Given the description of an element on the screen output the (x, y) to click on. 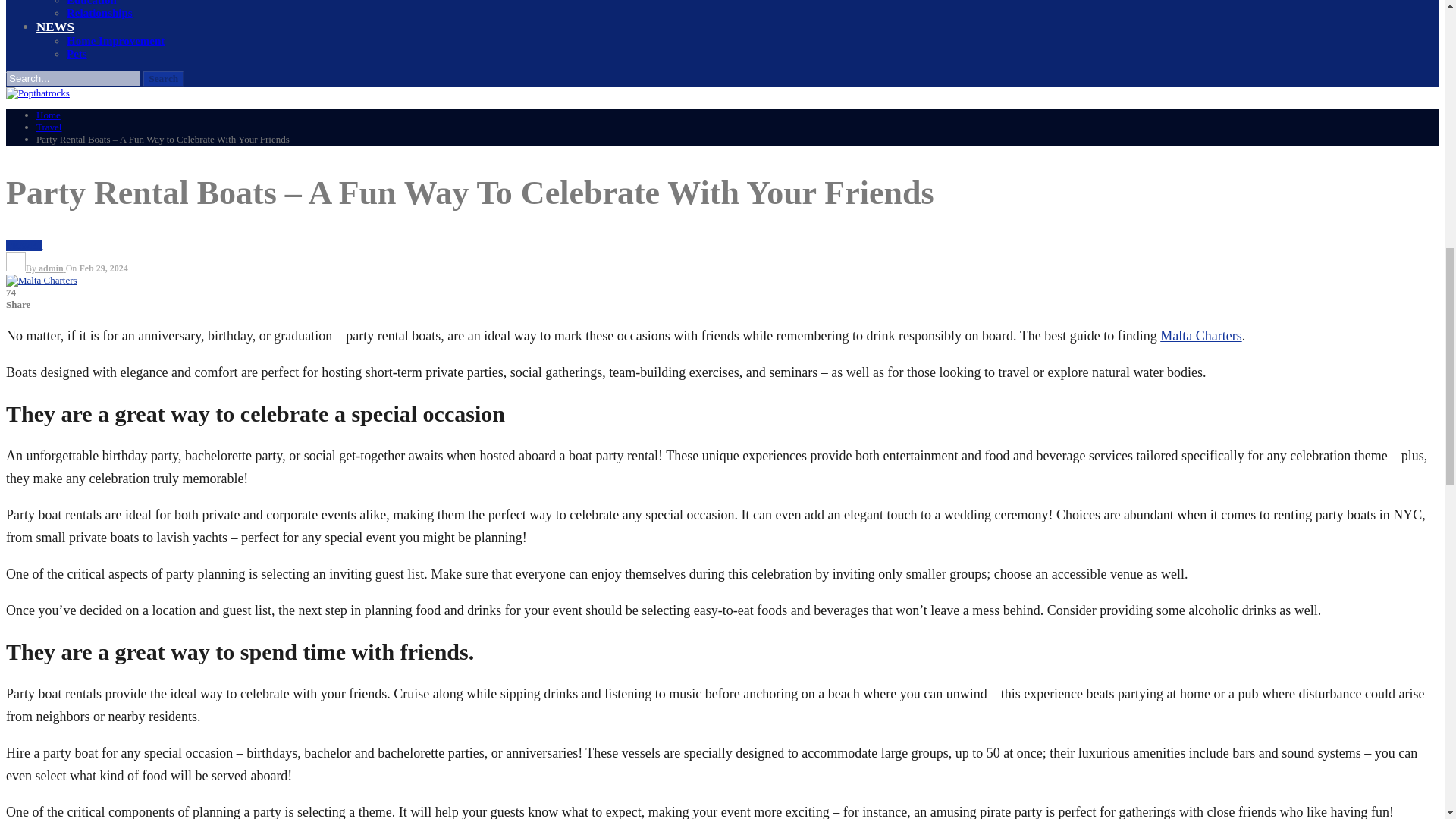
Search (163, 78)
Search for: (72, 78)
Browse Author Articles (35, 267)
Search (163, 78)
